Given the description of an element on the screen output the (x, y) to click on. 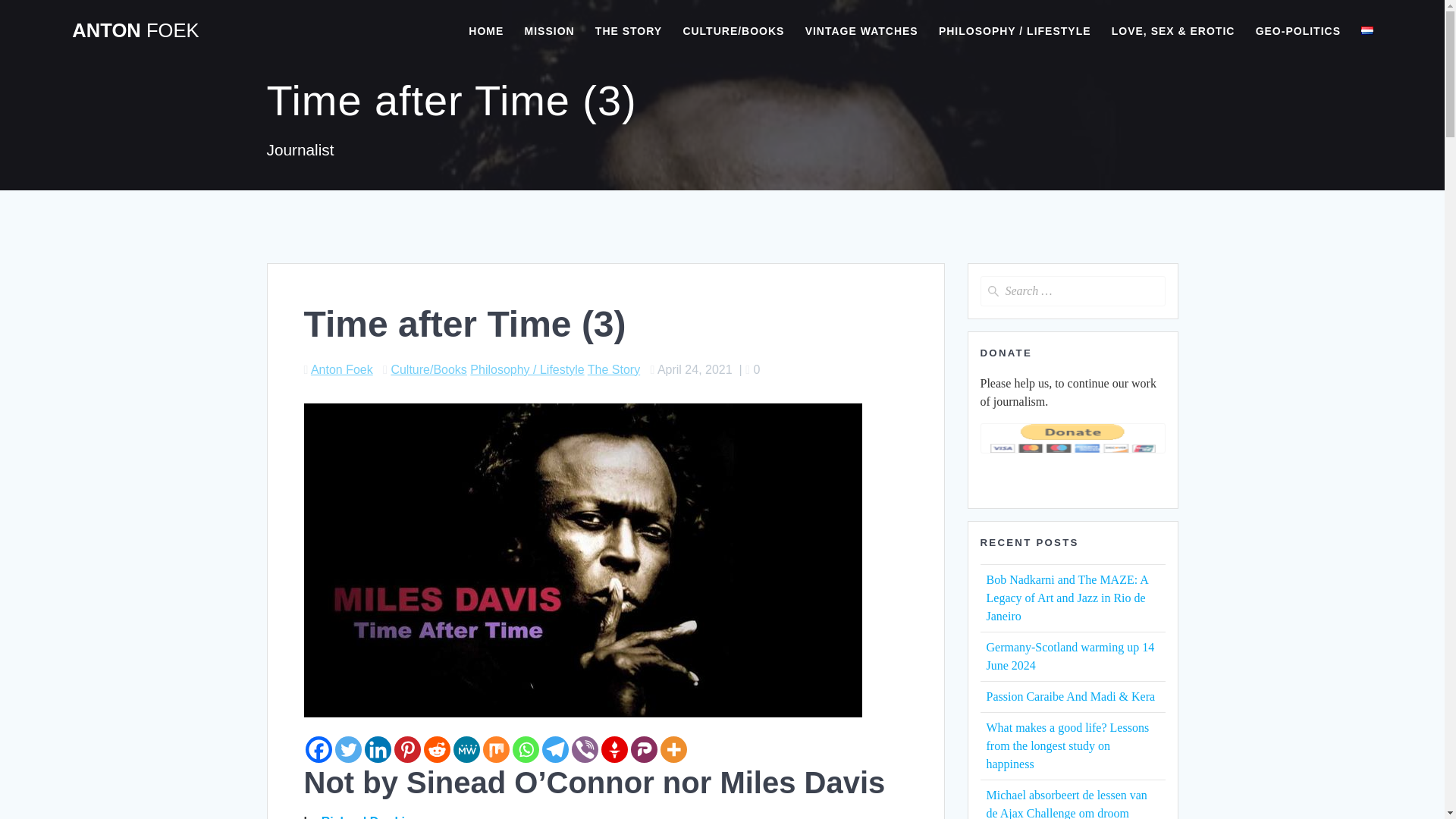
Facebook (317, 749)
HOME (485, 30)
ANTON FOEK (134, 30)
GEO-POLITICS (1297, 30)
Richard Dawkins (370, 816)
The Story (614, 369)
MISSION (549, 30)
Anton Foek (341, 369)
Telegram (554, 749)
More (672, 749)
Whatsapp (525, 749)
Parler (644, 749)
Linkedin (377, 749)
THE STORY (628, 30)
VINTAGE WATCHES (861, 30)
